Given the description of an element on the screen output the (x, y) to click on. 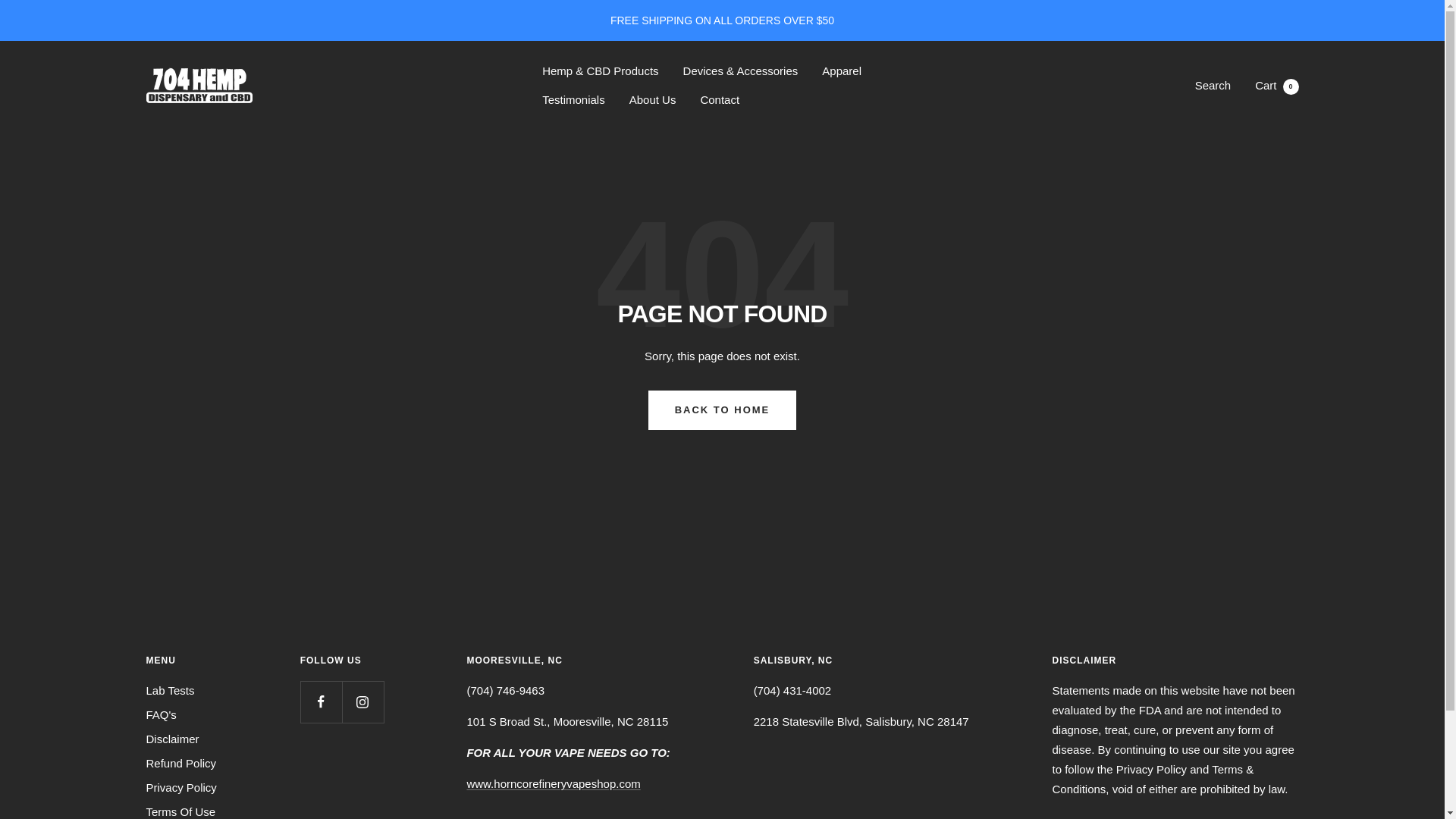
Refund Policy (180, 763)
FAQ's (160, 714)
Privacy Policy (180, 787)
Disclaimer (171, 739)
Testimonials (573, 99)
Search (1213, 84)
Contact (719, 99)
704-hemp (198, 85)
Terms Of Use (1276, 84)
About Us (180, 810)
www.horncorefineryvapeshop.com (652, 99)
Apparel (552, 783)
Lab Tests (841, 71)
BACK TO HOME (169, 690)
